Given the description of an element on the screen output the (x, y) to click on. 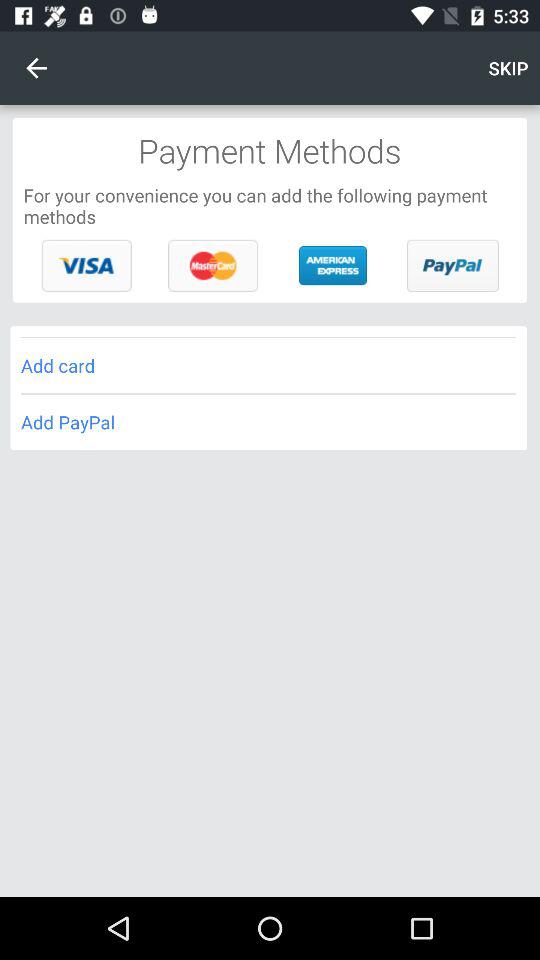
turn on the icon above add paypal (268, 365)
